Given the description of an element on the screen output the (x, y) to click on. 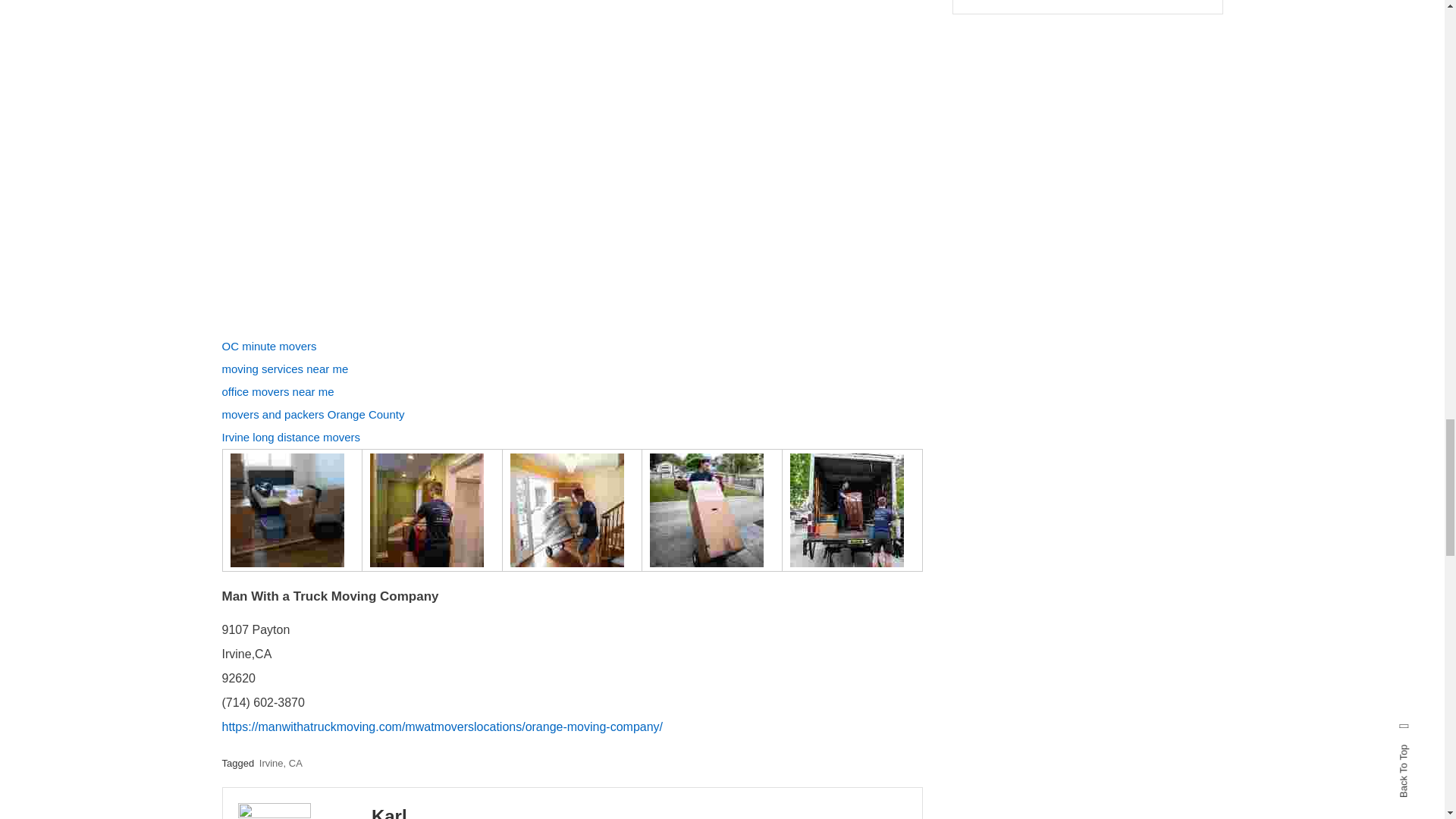
Posts by Karl (389, 812)
